Given the description of an element on the screen output the (x, y) to click on. 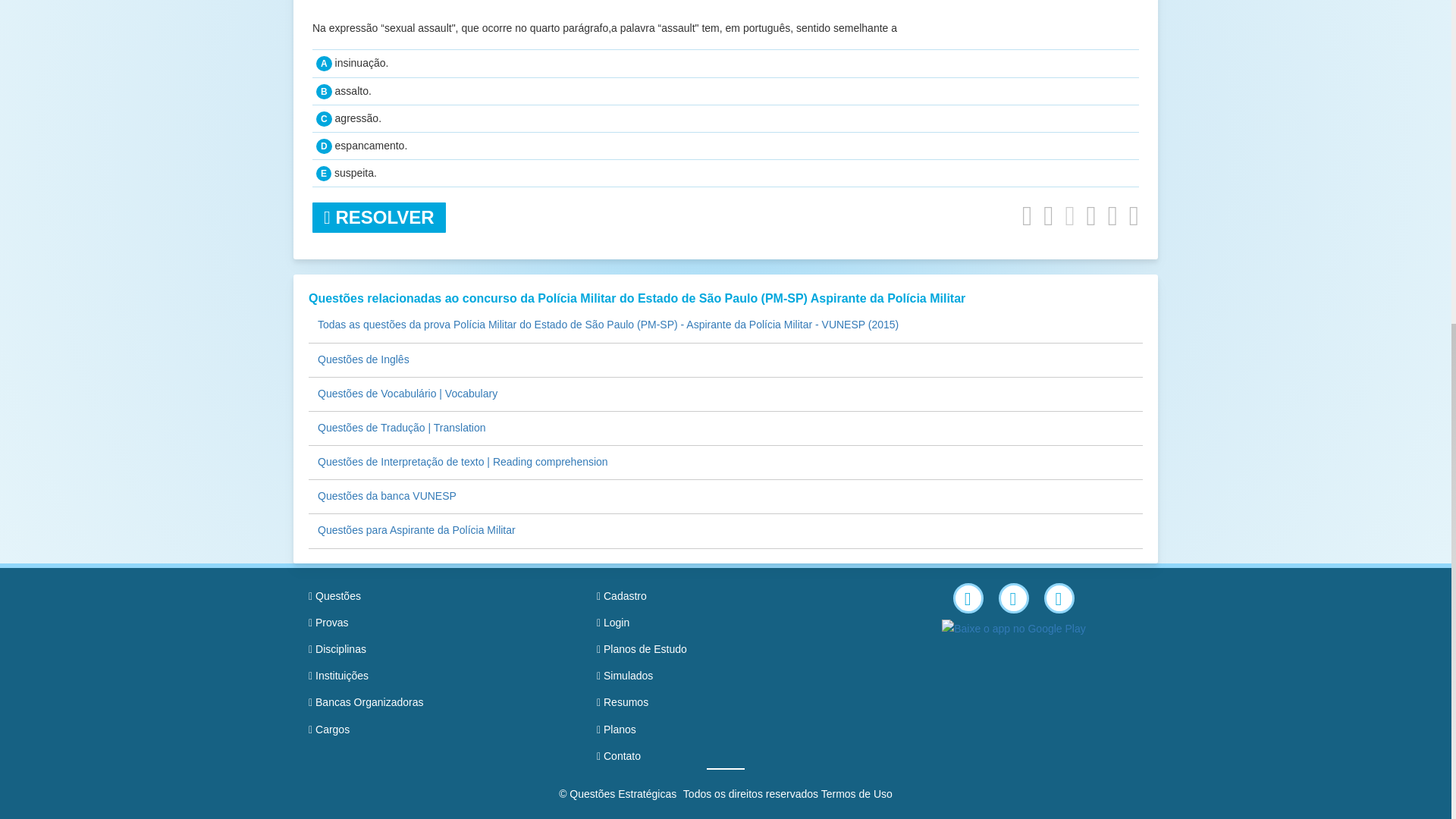
Solicitar Gabarito Comentado (1027, 216)
Reportar Erro (1113, 216)
Curtir (1069, 216)
Colocar em um Caderno (1047, 216)
